Given the description of an element on the screen output the (x, y) to click on. 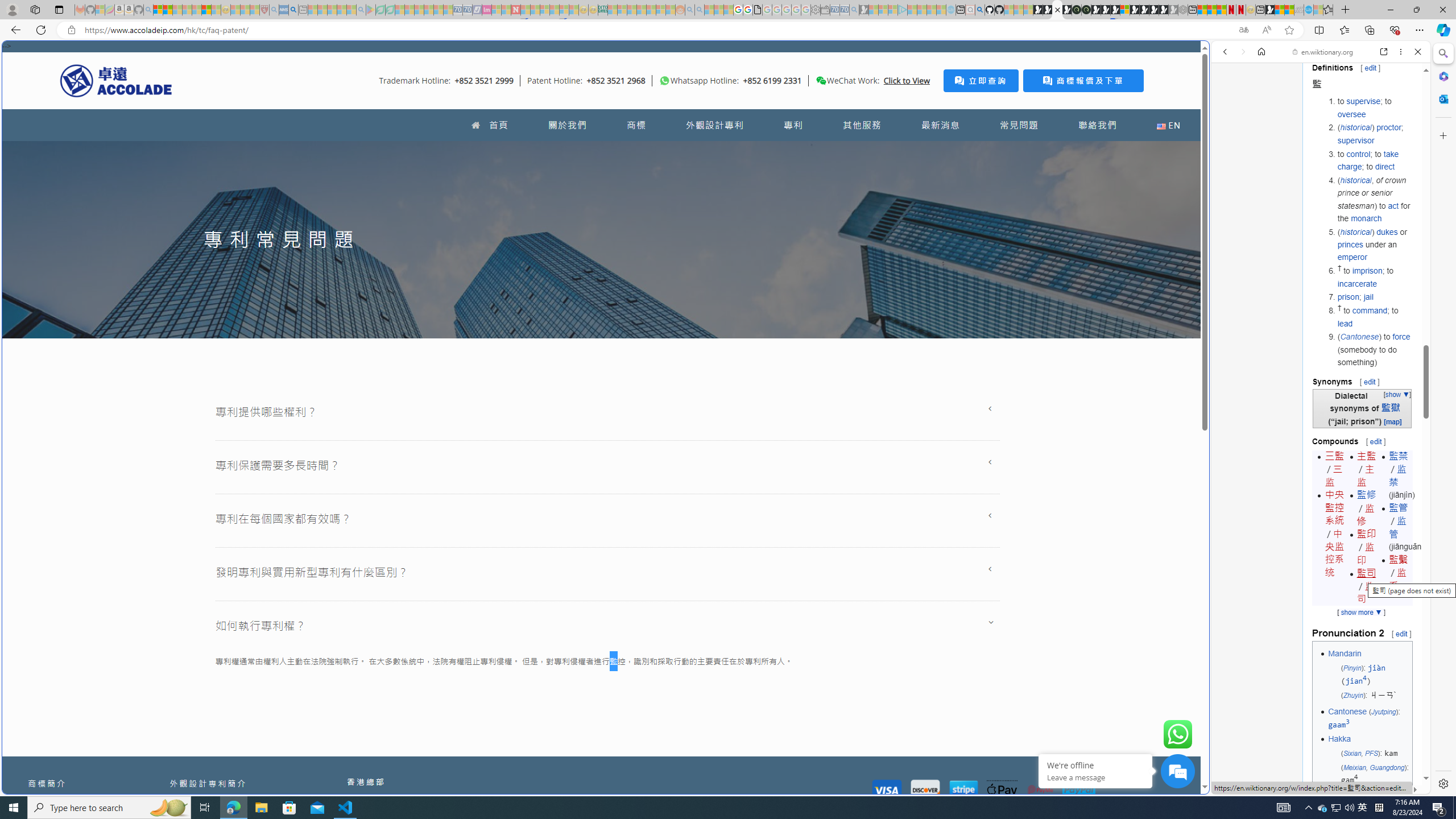
Close Outlook pane (1442, 98)
WEB   (1230, 130)
Search the web (1326, 78)
The Weather Channel - MSN - Sleeping (177, 9)
Class: desktop (821, 80)
Search or enter web address (922, 108)
Utah sues federal government - Search - Sleeping (699, 9)
Jobs - lastminute.com Investor Portal - Sleeping (486, 9)
Bluey: Let's Play! - Apps on Google Play - Sleeping (370, 9)
Home | Sky Blue Bikes - Sky Blue Bikes (1118, 242)
